Given the description of an element on the screen output the (x, y) to click on. 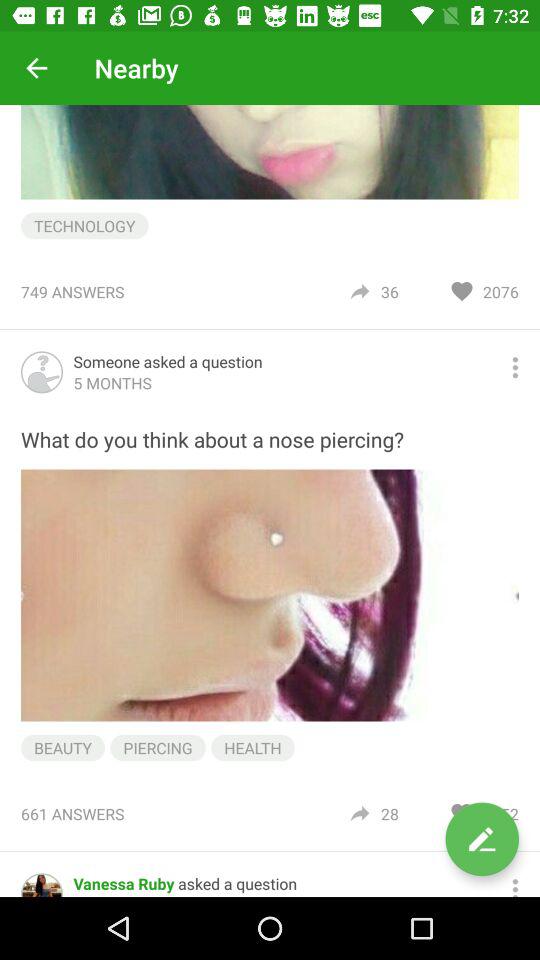
more option (515, 885)
